Given the description of an element on the screen output the (x, y) to click on. 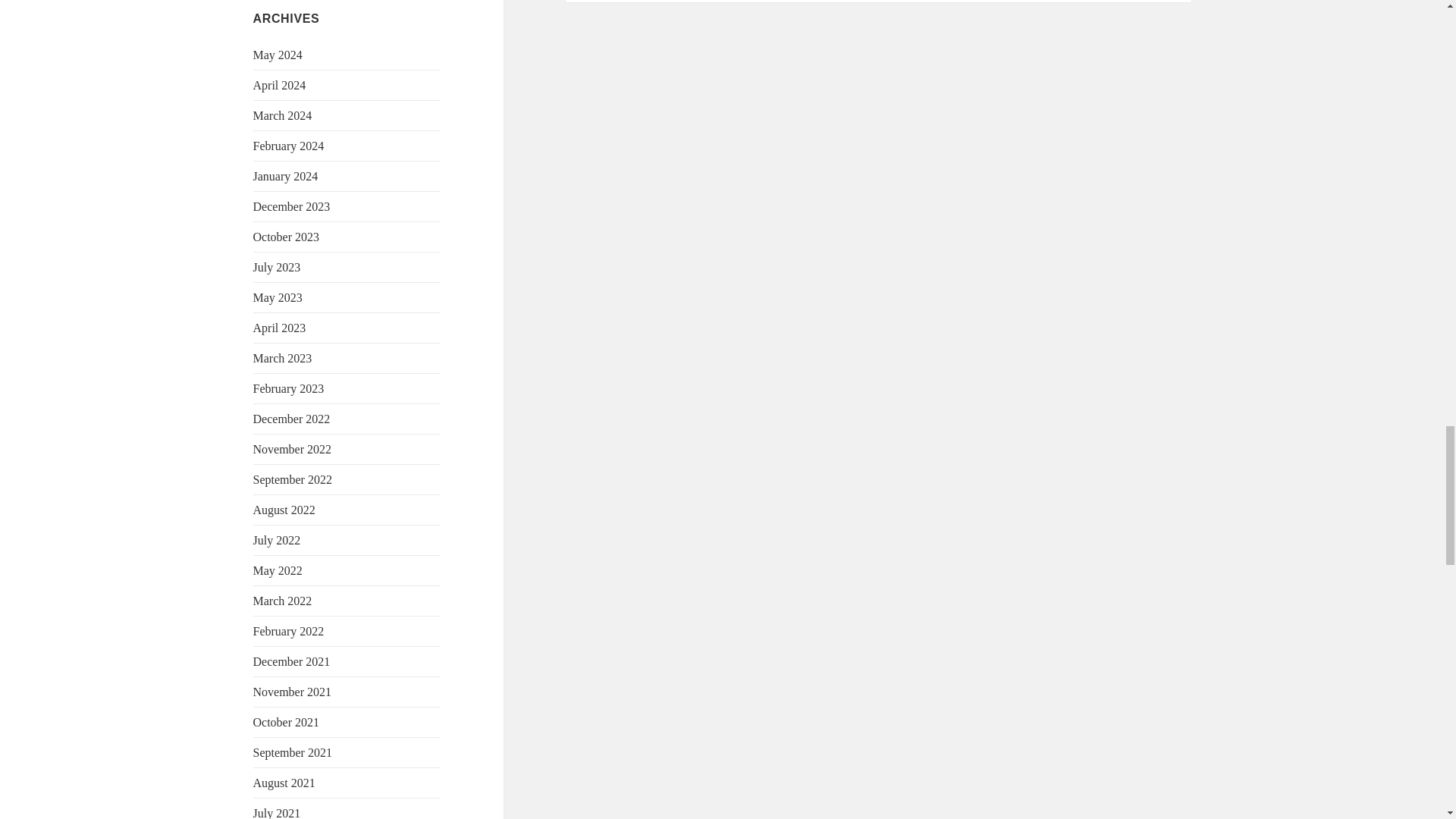
May 2024 (277, 54)
February 2023 (288, 388)
January 2024 (285, 175)
November 2022 (292, 449)
October 2023 (286, 236)
December 2022 (291, 418)
March 2024 (283, 115)
July 2022 (277, 540)
May 2023 (277, 297)
September 2022 (292, 479)
April 2024 (279, 84)
May 2022 (277, 570)
February 2024 (288, 145)
April 2023 (279, 327)
July 2023 (277, 267)
